Given the description of an element on the screen output the (x, y) to click on. 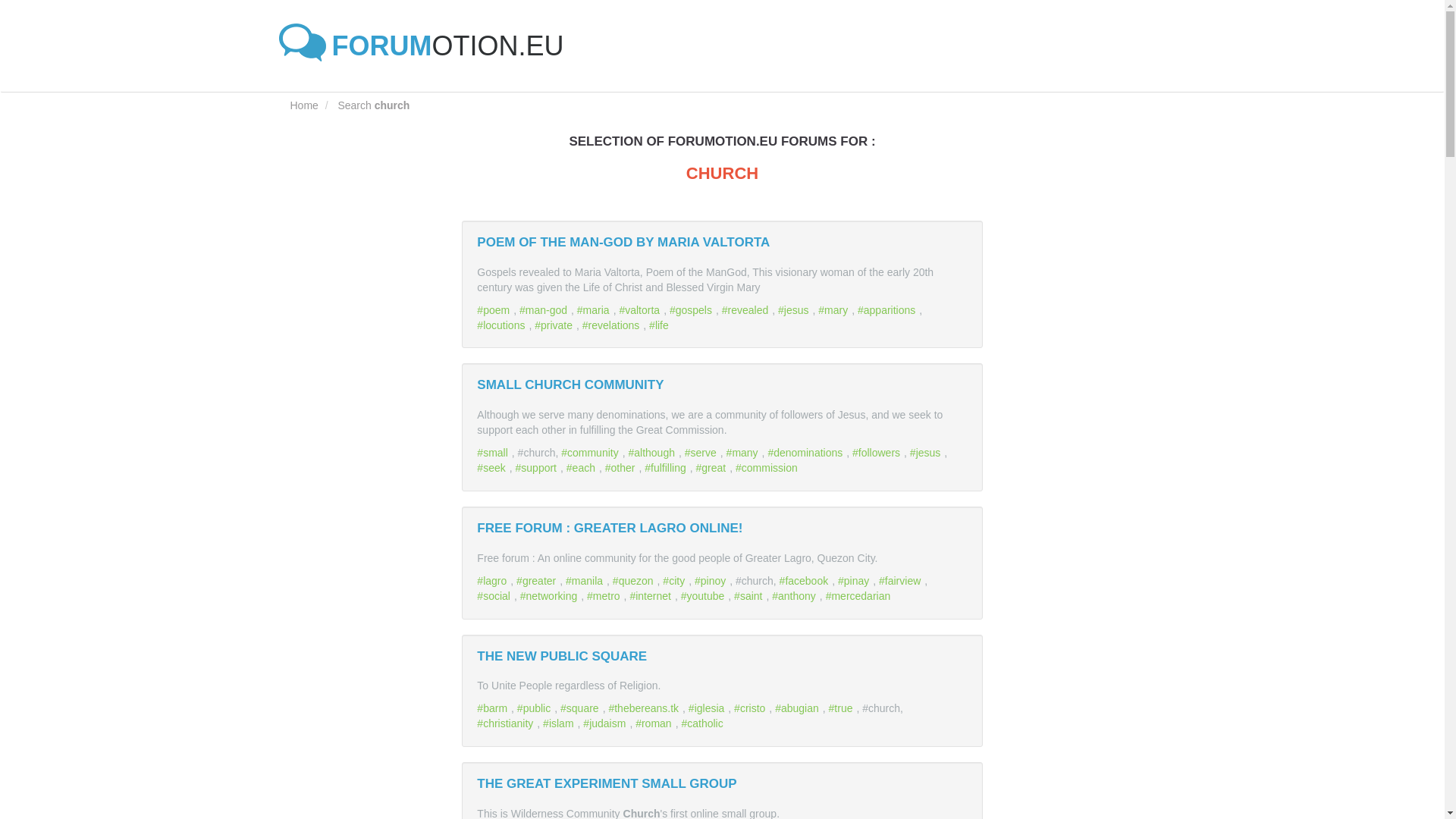
small (494, 452)
POEM OF THE MAN-GOD BY MARIA VALTORTA (623, 242)
apparitions (887, 309)
support (537, 467)
life (660, 324)
greater (537, 580)
community (590, 452)
manila (586, 580)
city (675, 580)
man-god (544, 309)
apparitions (887, 309)
maria (594, 309)
poem (495, 309)
each (582, 467)
serve (702, 452)
